Given the description of an element on the screen output the (x, y) to click on. 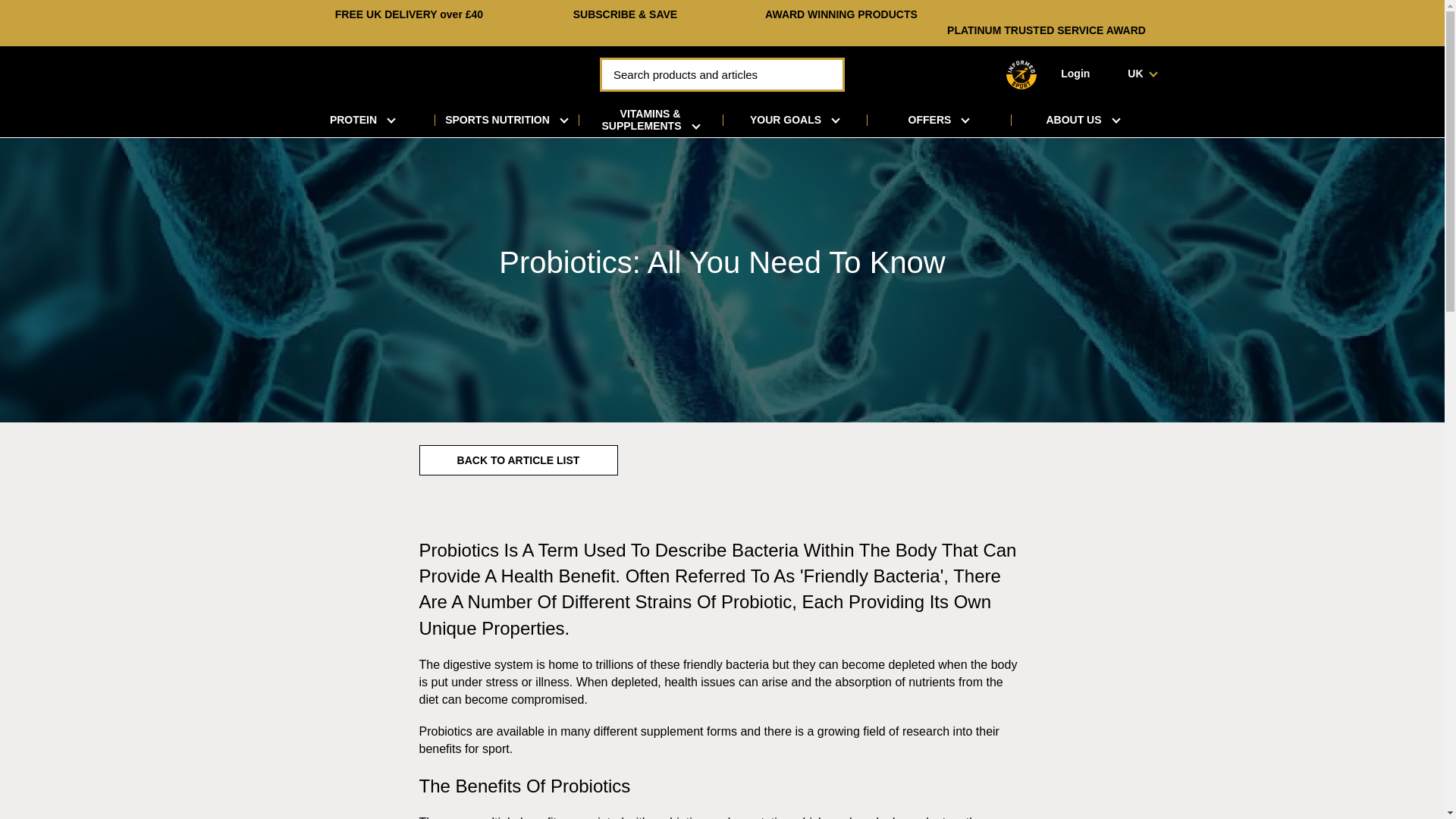
Login (1075, 73)
AWARD WINNING PRODUCTS (841, 14)
Healthspan (399, 73)
PLATINUM TRUSTED SERVICE AWARD (1046, 30)
Search products and articles (721, 74)
Protein (361, 120)
PROTEIN (361, 120)
Login (1075, 73)
Informed Sport (1021, 73)
